Given the description of an element on the screen output the (x, y) to click on. 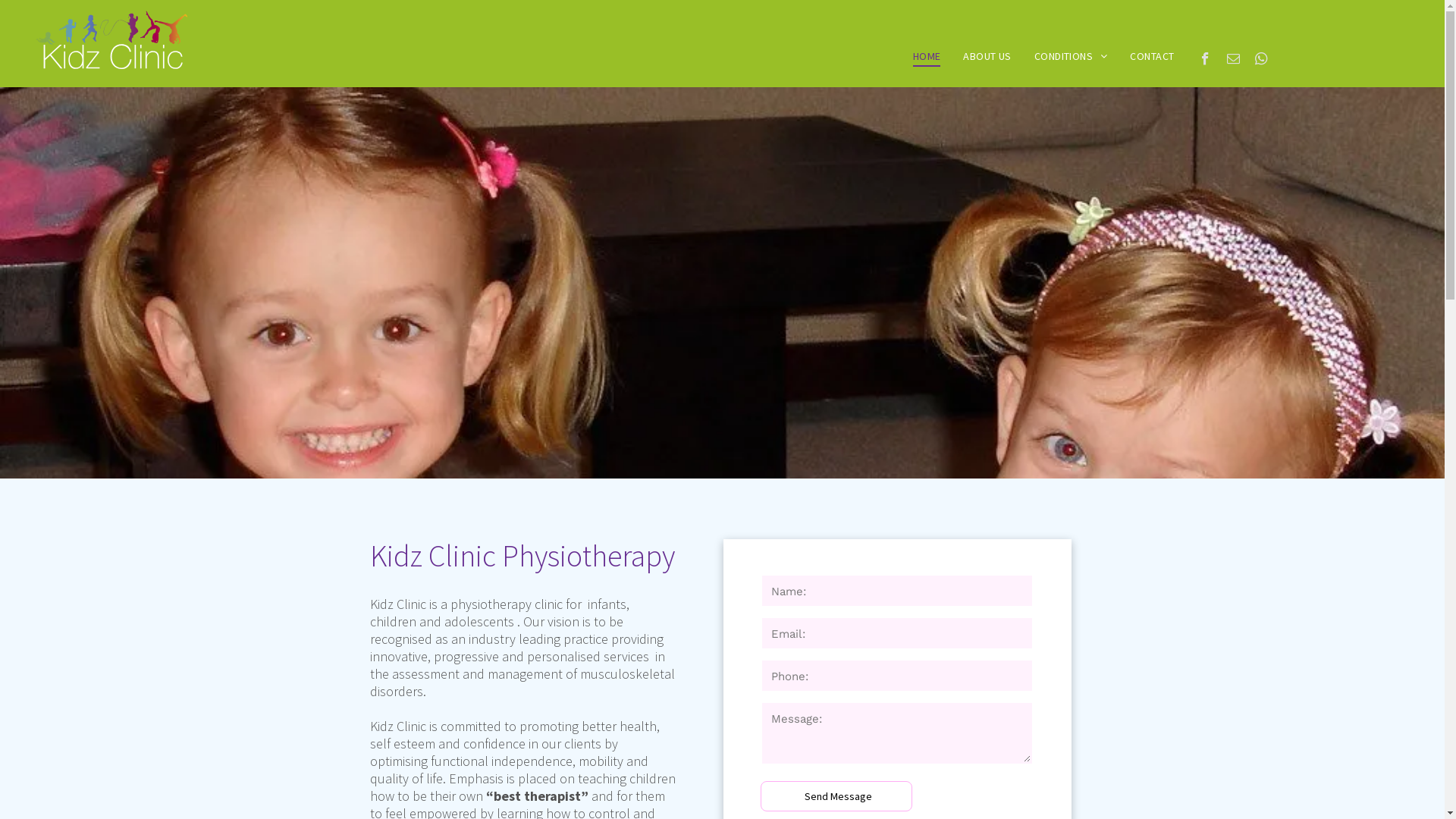
CONTACT Element type: text (1151, 55)
HOME Element type: text (926, 55)
CONDITIONS Element type: text (1070, 55)
Send Message Element type: text (837, 795)
ABOUT US Element type: text (986, 55)
